Given the description of an element on the screen output the (x, y) to click on. 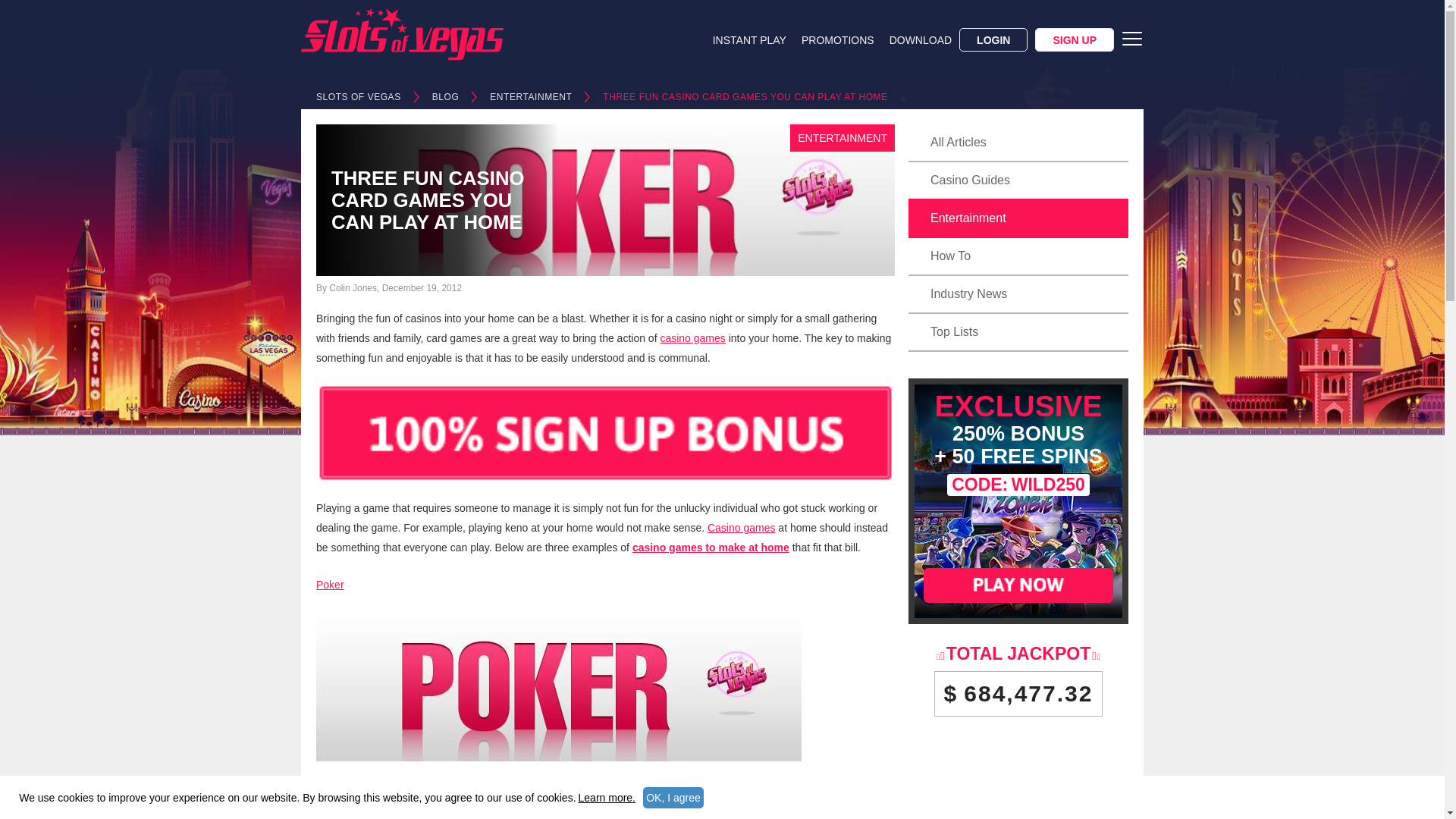
BLOG (446, 96)
Entertainment (1018, 217)
casino games to make at home (710, 547)
ENTERTAINMENT (530, 96)
casino games (692, 337)
LOGIN (993, 39)
SLOTS OF VEGAS (358, 96)
Top Lists (1018, 331)
All Articles (1018, 142)
PROMOTIONS (838, 41)
Casino Guides (1018, 180)
Industry News (1018, 294)
How To (1018, 256)
SIGN UP (1074, 39)
Poker (329, 584)
